Given the description of an element on the screen output the (x, y) to click on. 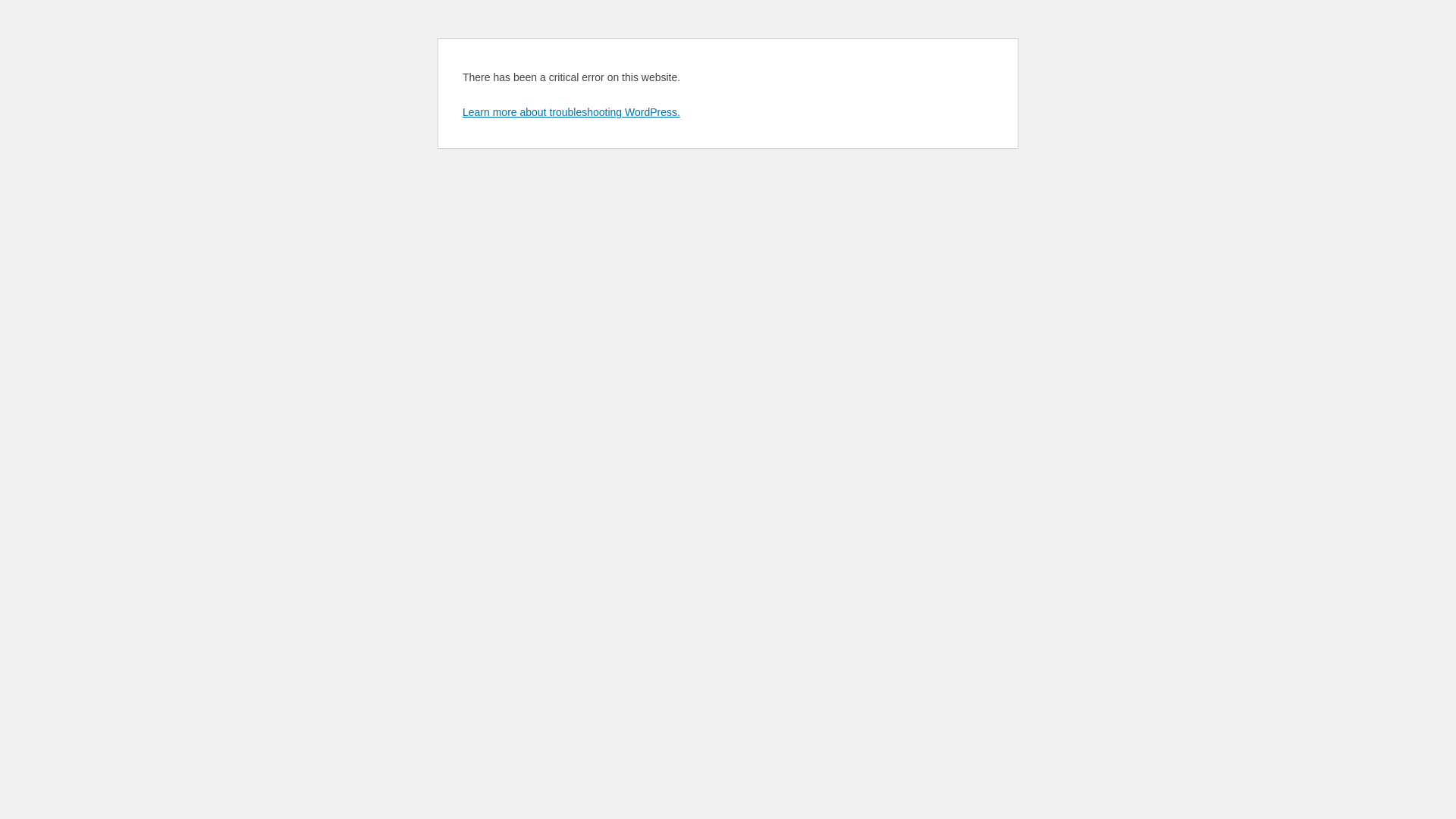
Learn more about troubleshooting WordPress. Element type: text (571, 112)
